Given the description of an element on the screen output the (x, y) to click on. 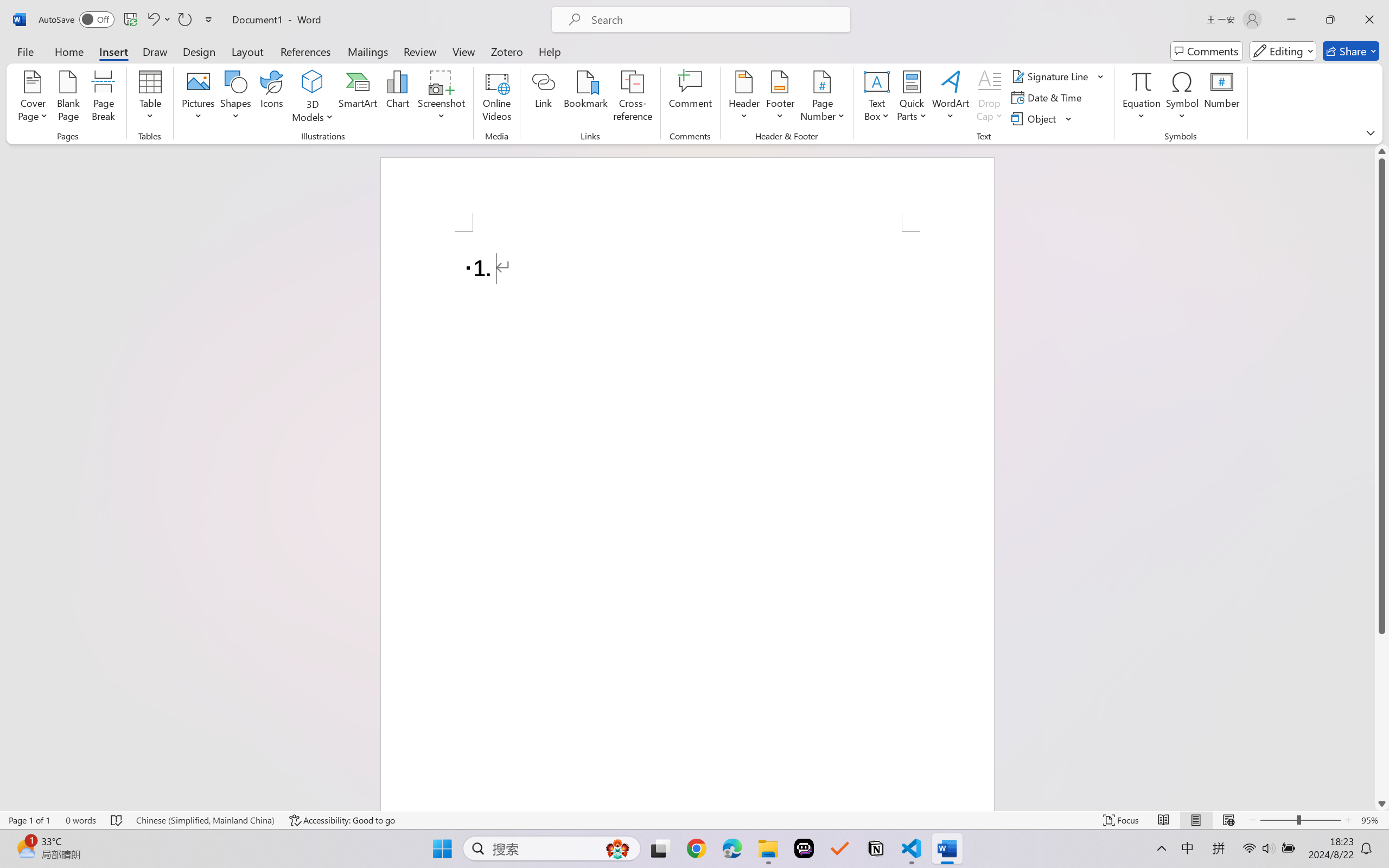
Undo Number Default (152, 19)
Bookmark... (585, 97)
Object... (1042, 118)
Shapes (235, 97)
